Given the description of an element on the screen output the (x, y) to click on. 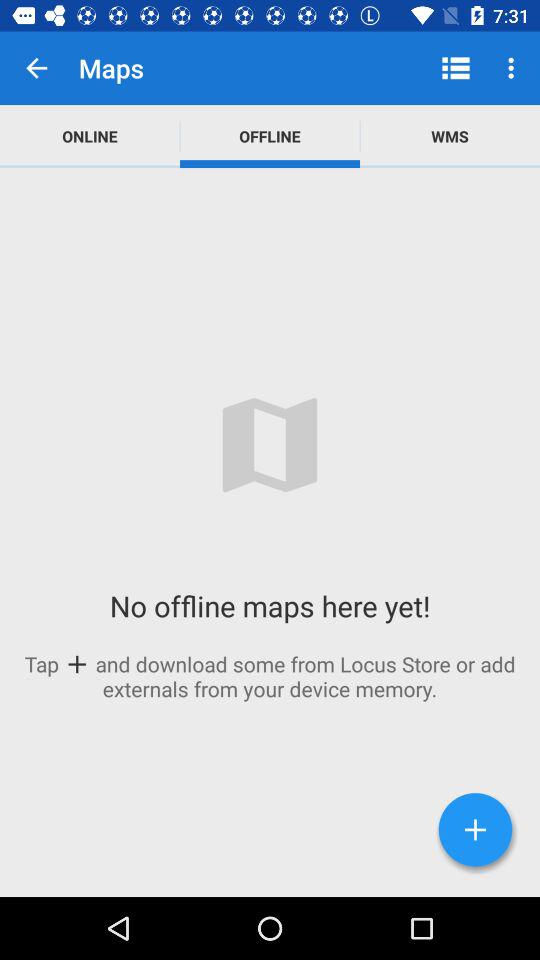
choose the icon above the wms item (455, 67)
